Given the description of an element on the screen output the (x, y) to click on. 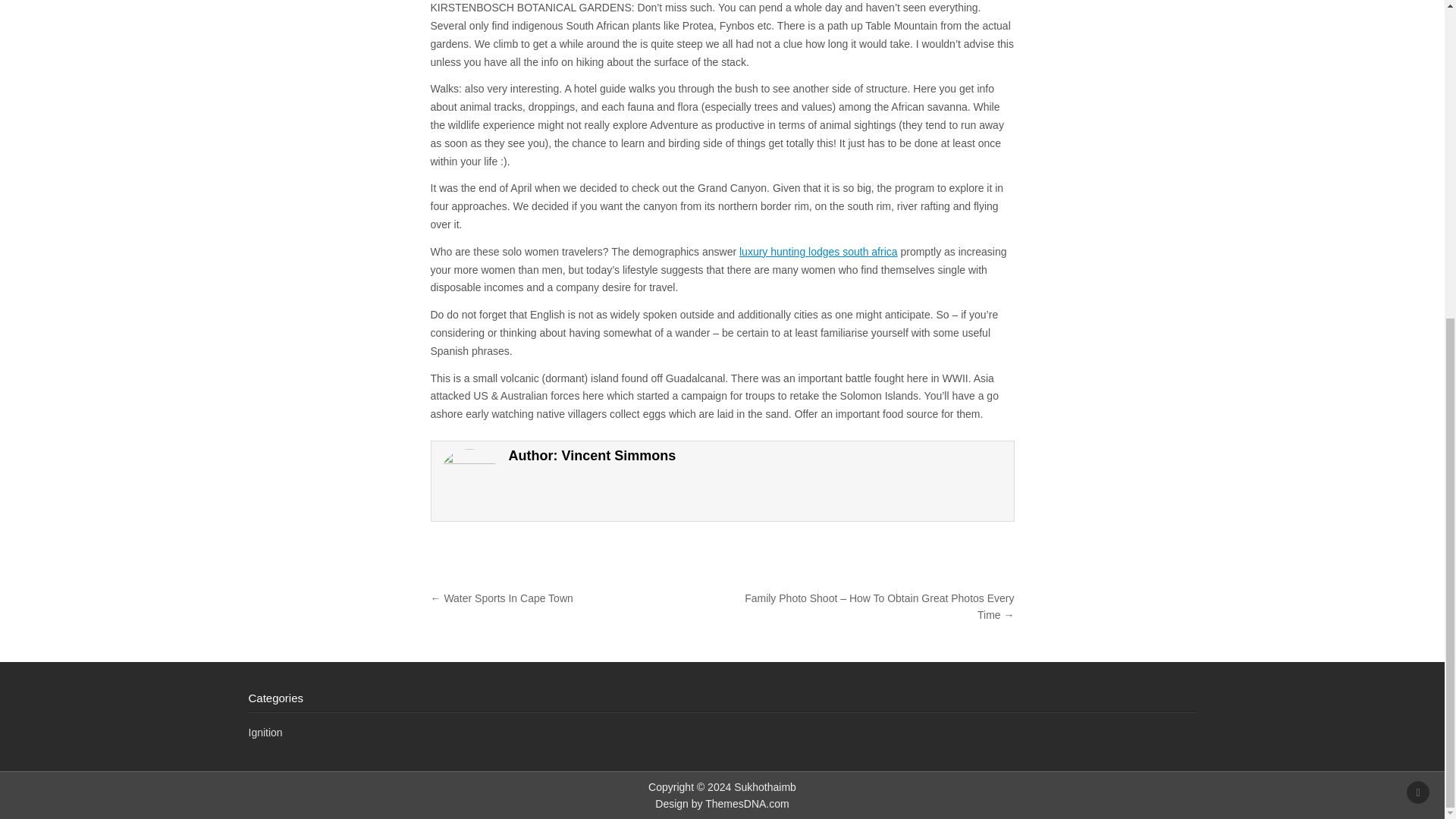
Design by ThemesDNA.com (722, 803)
Scroll to Top (1417, 278)
luxury hunting lodges south africa (818, 251)
Ignition (265, 732)
Scroll to Top (1417, 278)
Scroll to Top (1417, 278)
